Given the description of an element on the screen output the (x, y) to click on. 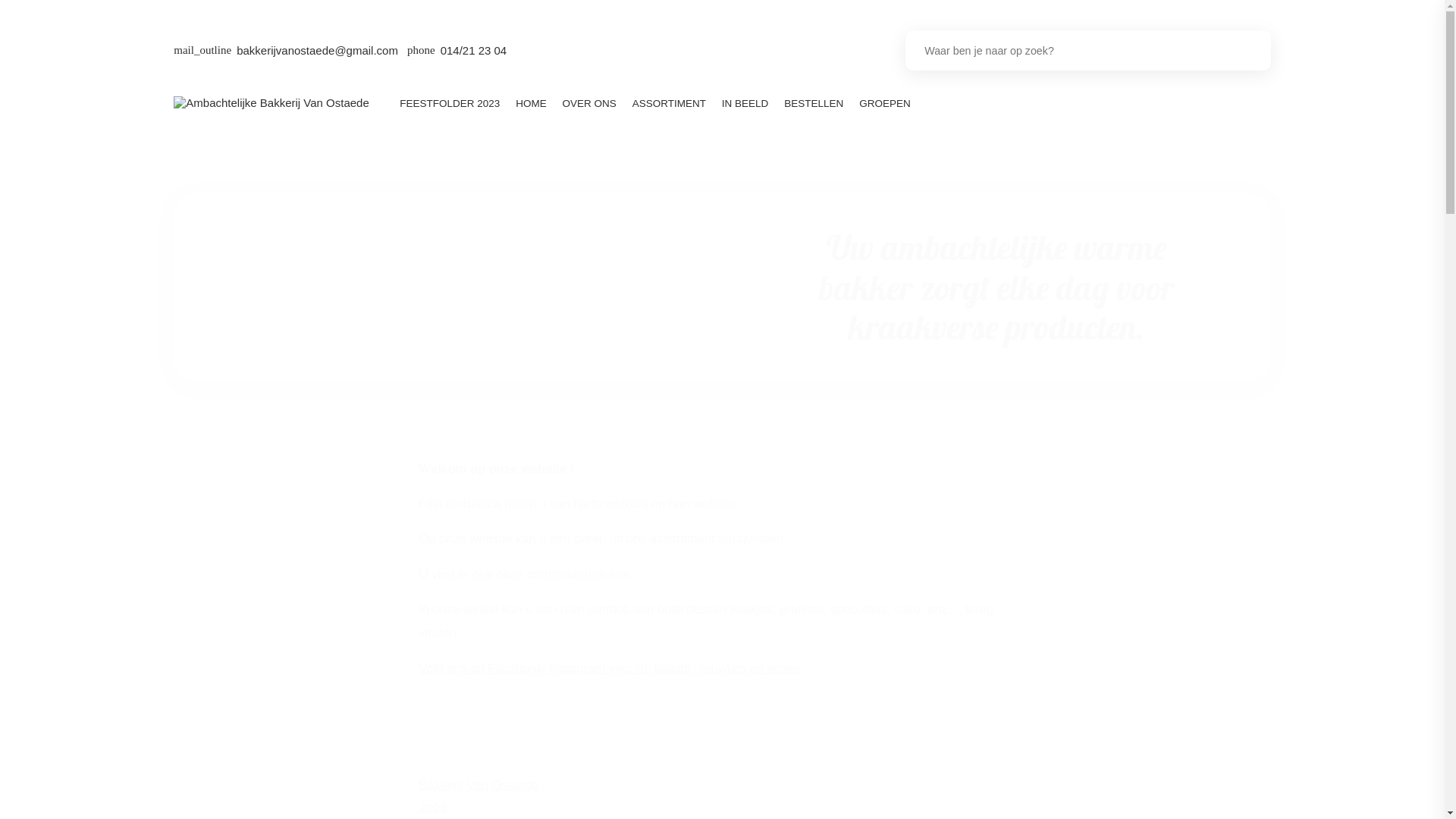
OVER ONS Element type: text (589, 103)
BESTELLEN Element type: text (813, 103)
Bakkerij Van Ostaede Element type: text (478, 783)
GROEPEN Element type: text (884, 103)
Ambachtelijke Bakkerij Van Ostaede Element type: hover (271, 102)
HOME Element type: text (530, 103)
phone
014/21 23 04 Element type: text (456, 50)
FEESTFOLDER 2023 Element type: text (449, 103)
ASSORTIMENT Element type: text (668, 103)
mail_outline
bakkerijvanostaede@gmail.com Element type: text (285, 50)
IN BEELD Element type: text (744, 103)
